Given the description of an element on the screen output the (x, y) to click on. 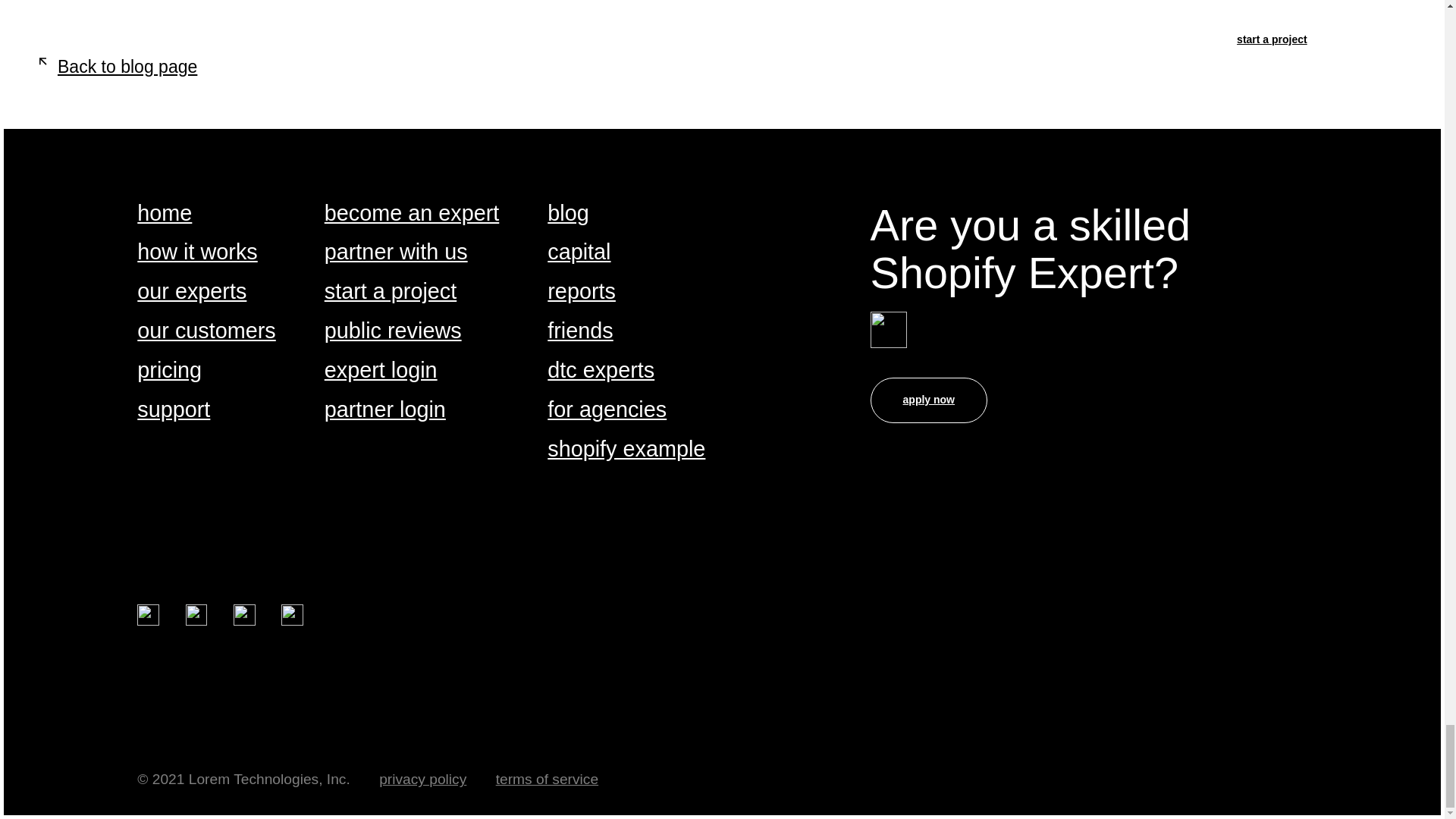
our experts (191, 292)
our customers (205, 331)
reports (581, 292)
capital (578, 252)
blog (567, 213)
Back to blog page (114, 67)
support (172, 410)
expert login (381, 371)
how it works (196, 252)
partner with us (395, 252)
